Given the description of an element on the screen output the (x, y) to click on. 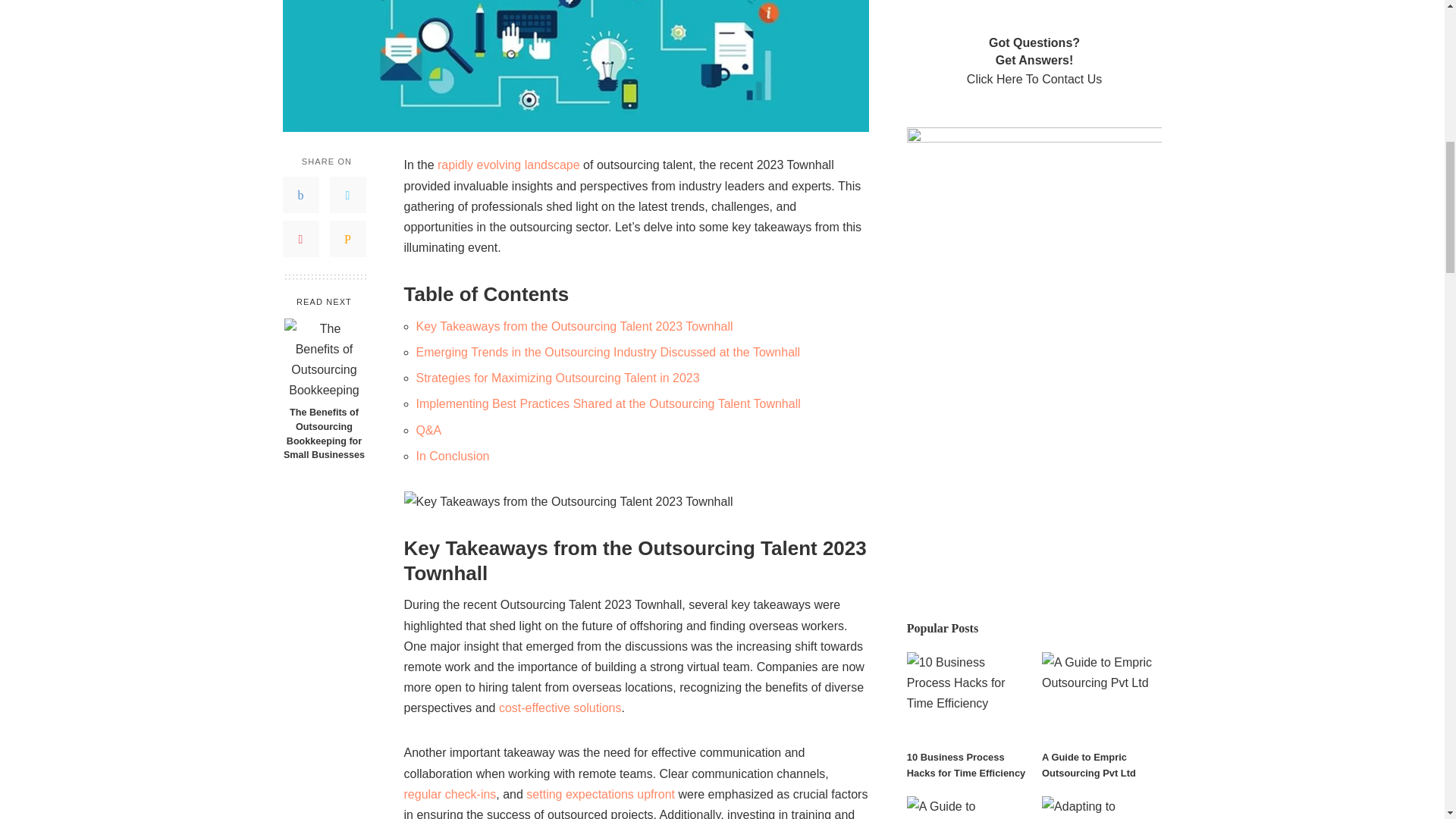
Facebook (300, 194)
Strategies for Maximizing Outsourcing Talent in 2023 (556, 377)
Understanding Business Outsourcing: A Comprehensive Overview (600, 793)
In Conclusion (451, 455)
Email (347, 238)
regular check-ins (449, 793)
Twitter (347, 194)
Pinterest (300, 238)
rapidly evolving landscape (508, 164)
The Benefits of Outsourcing Bookkeeping for Small Businesses (323, 434)
setting expectations upfront (600, 793)
